Given the description of an element on the screen output the (x, y) to click on. 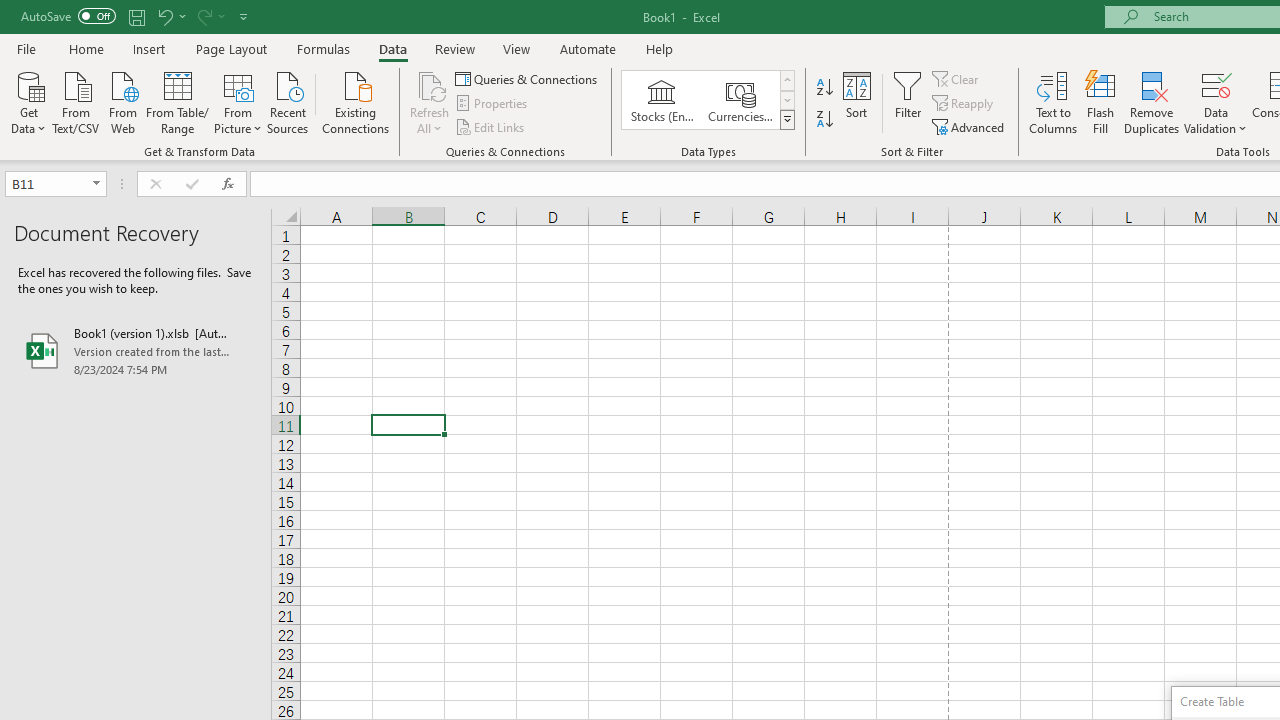
From Web (122, 101)
Sort Z to A (824, 119)
Edit Links (491, 126)
Queries & Connections (527, 78)
Stocks (English) (662, 100)
Reapply (964, 103)
